Given the description of an element on the screen output the (x, y) to click on. 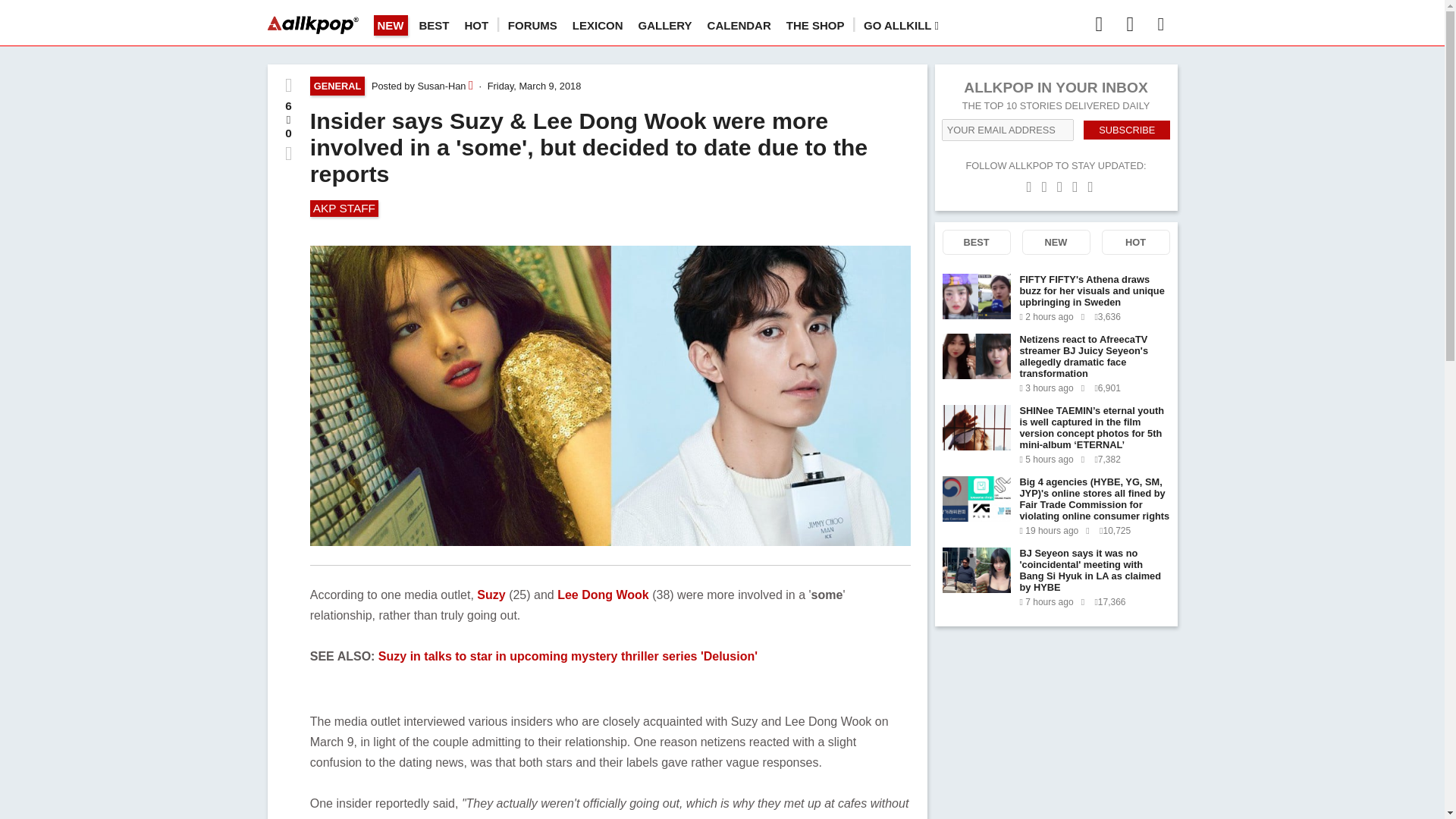
LEXICON (597, 24)
CALENDAR (739, 24)
FIFTY FIFTY (976, 296)
THE SHOP (815, 24)
FORUMS (532, 24)
Bang Si Hyuk, misc. (976, 356)
Taemin (976, 427)
Lee Dong Wook (603, 594)
